Given the description of an element on the screen output the (x, y) to click on. 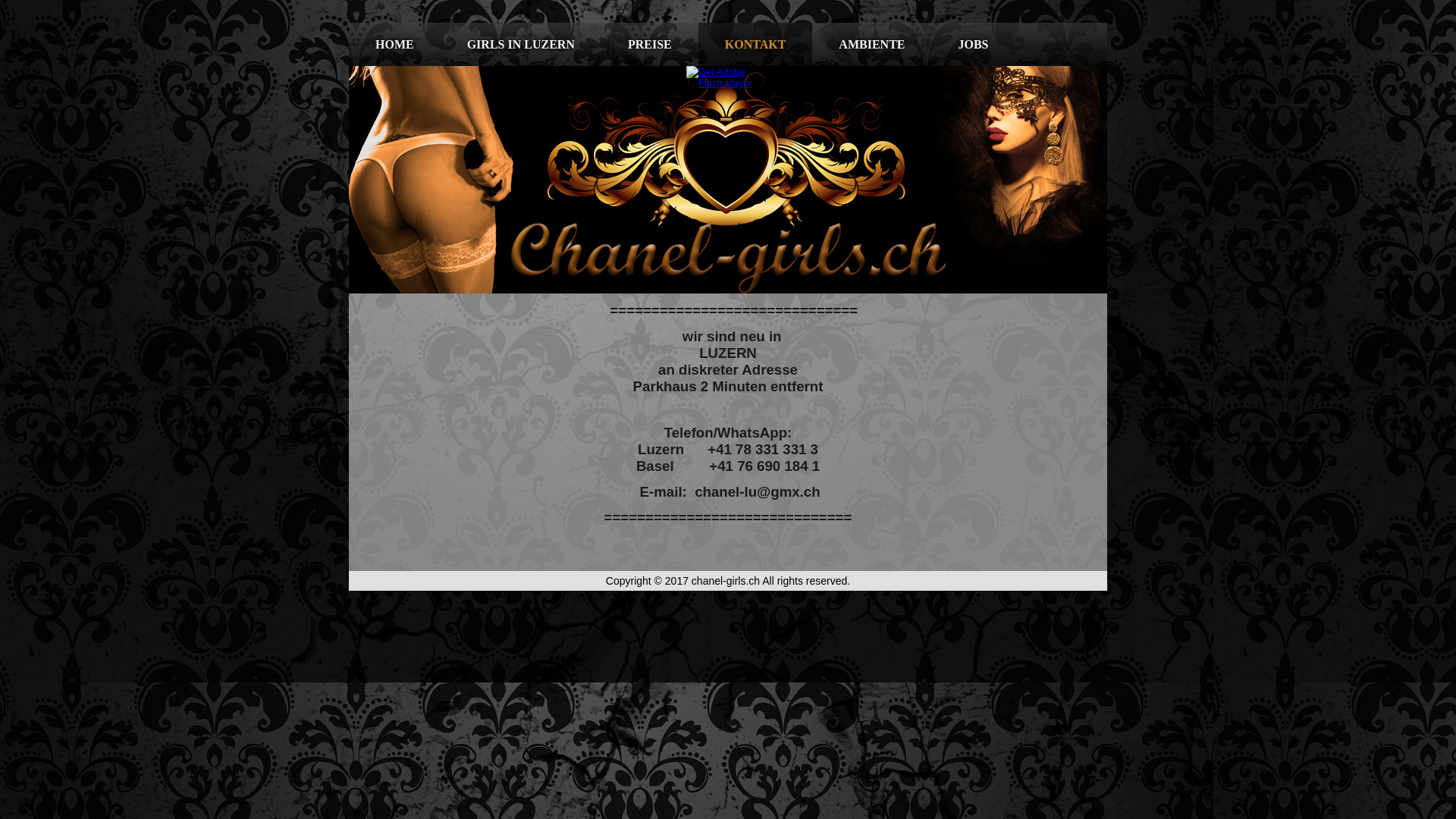
AMBIENTE Element type: text (871, 43)
PREISE Element type: text (649, 43)
HOME Element type: text (394, 43)
JOBS Element type: text (972, 43)
GIRLS IN LUZERN Element type: text (520, 43)
KONTAKT Element type: text (755, 43)
